Given the description of an element on the screen output the (x, y) to click on. 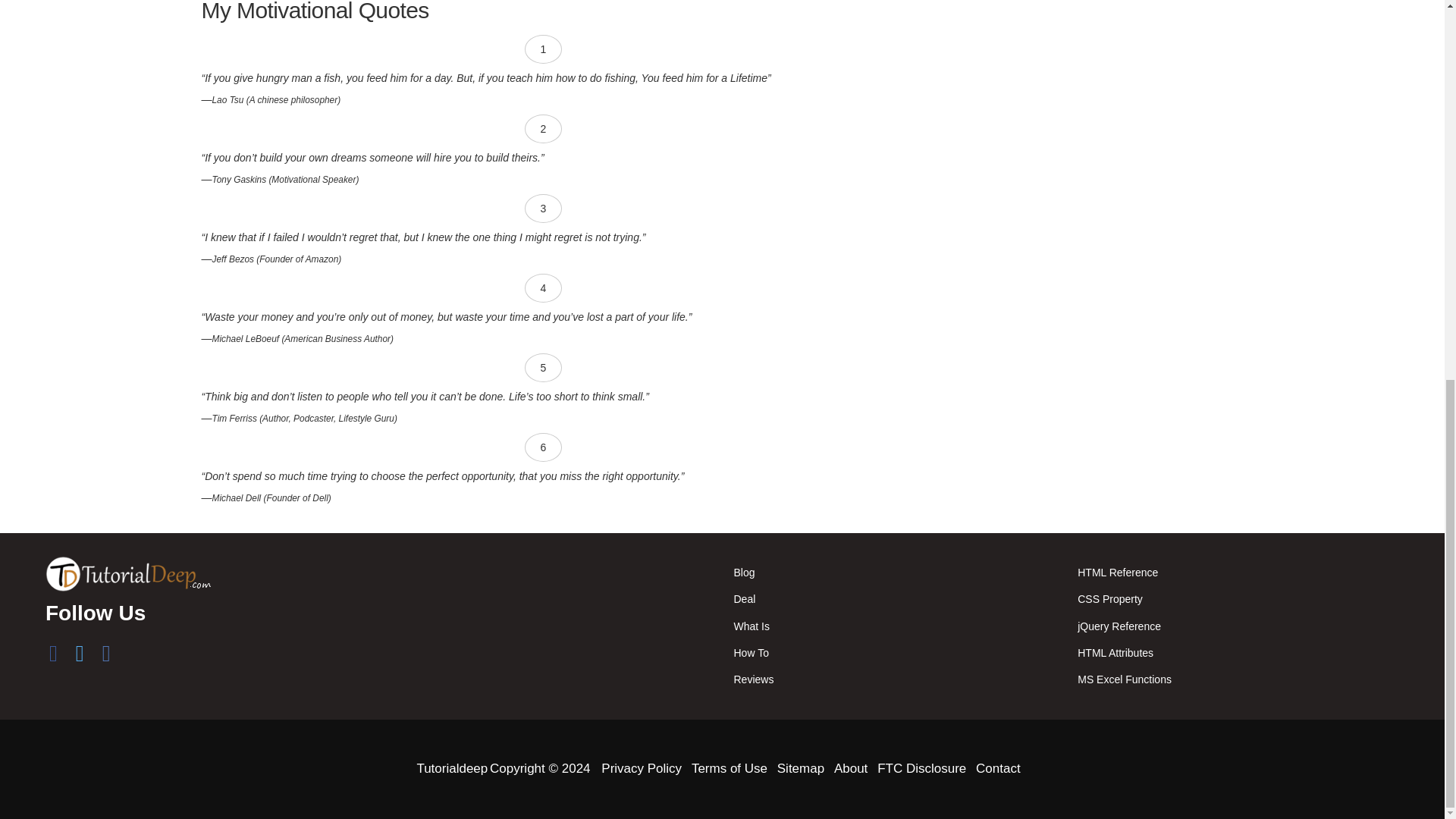
Blog (743, 572)
About (850, 768)
HTML Attributes (1115, 653)
Follow Tutorialdeep on Twitter (79, 657)
FTC Disclosure (921, 768)
Sitemap (800, 768)
Tutorialdeep (451, 768)
Terms of Use (729, 768)
How To (750, 653)
Join Tutorialdeep on Linkedin (107, 657)
